Given the description of an element on the screen output the (x, y) to click on. 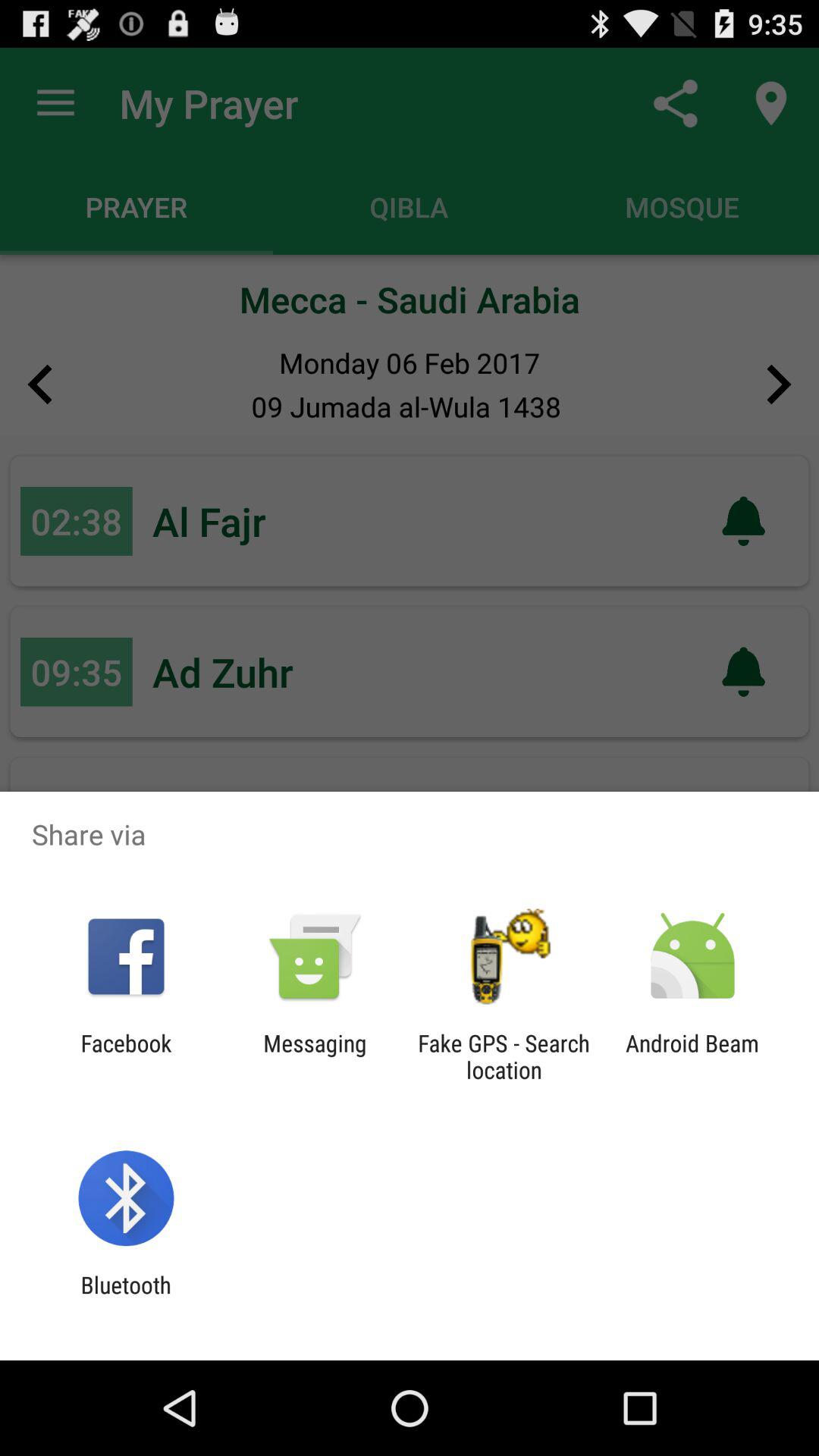
select the app to the left of messaging icon (125, 1056)
